Given the description of an element on the screen output the (x, y) to click on. 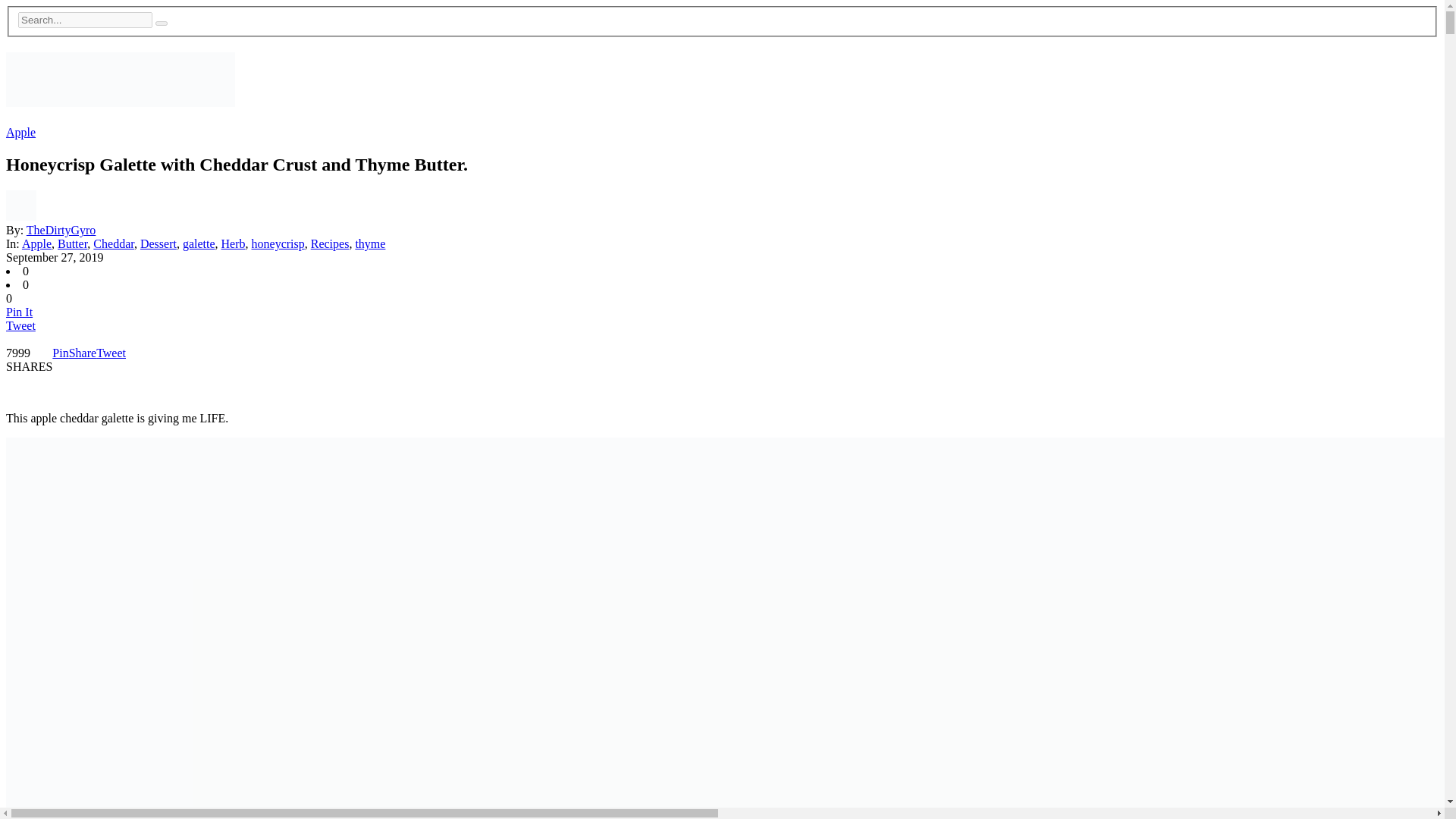
View all posts in Butter (72, 243)
Pin (60, 352)
Tweet (19, 325)
View all posts in Herb (233, 243)
galette (199, 243)
Posts by TheDirtyGyro (61, 229)
View all posts in Recipes (330, 243)
View all posts in Dessert (157, 243)
Share (82, 352)
Cheddar (113, 243)
